Given the description of an element on the screen output the (x, y) to click on. 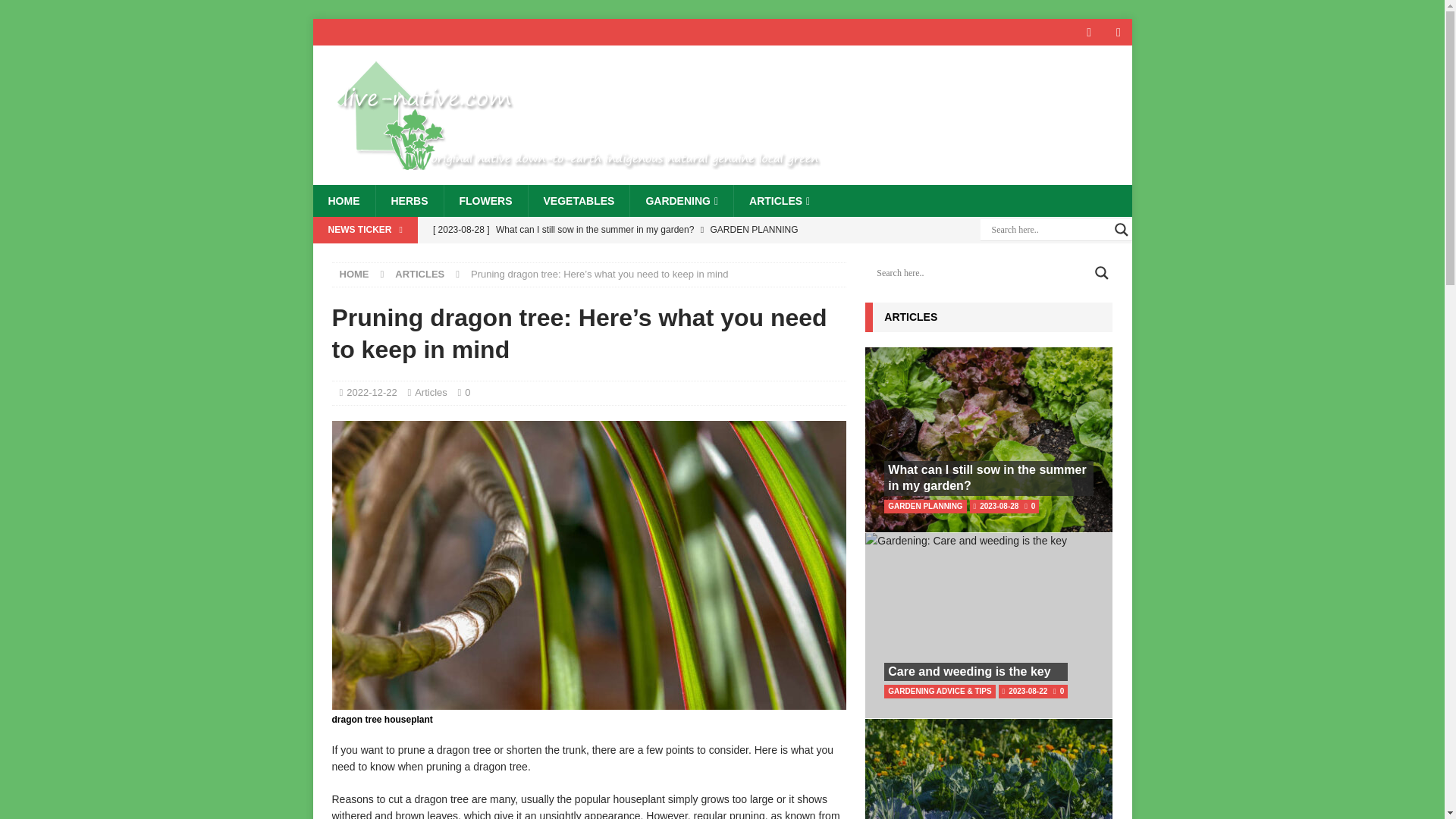
FLOWERS (485, 201)
ARTICLES (419, 274)
Articles (430, 392)
HERBS (408, 201)
Care and weeding is the key (634, 255)
ARTICLES (779, 201)
VEGETABLES (578, 201)
What can I still sow in the summer in my garden? (634, 229)
2022-12-22 (371, 392)
GARDENING (680, 201)
HOME (343, 201)
HOME (354, 274)
